Given the description of an element on the screen output the (x, y) to click on. 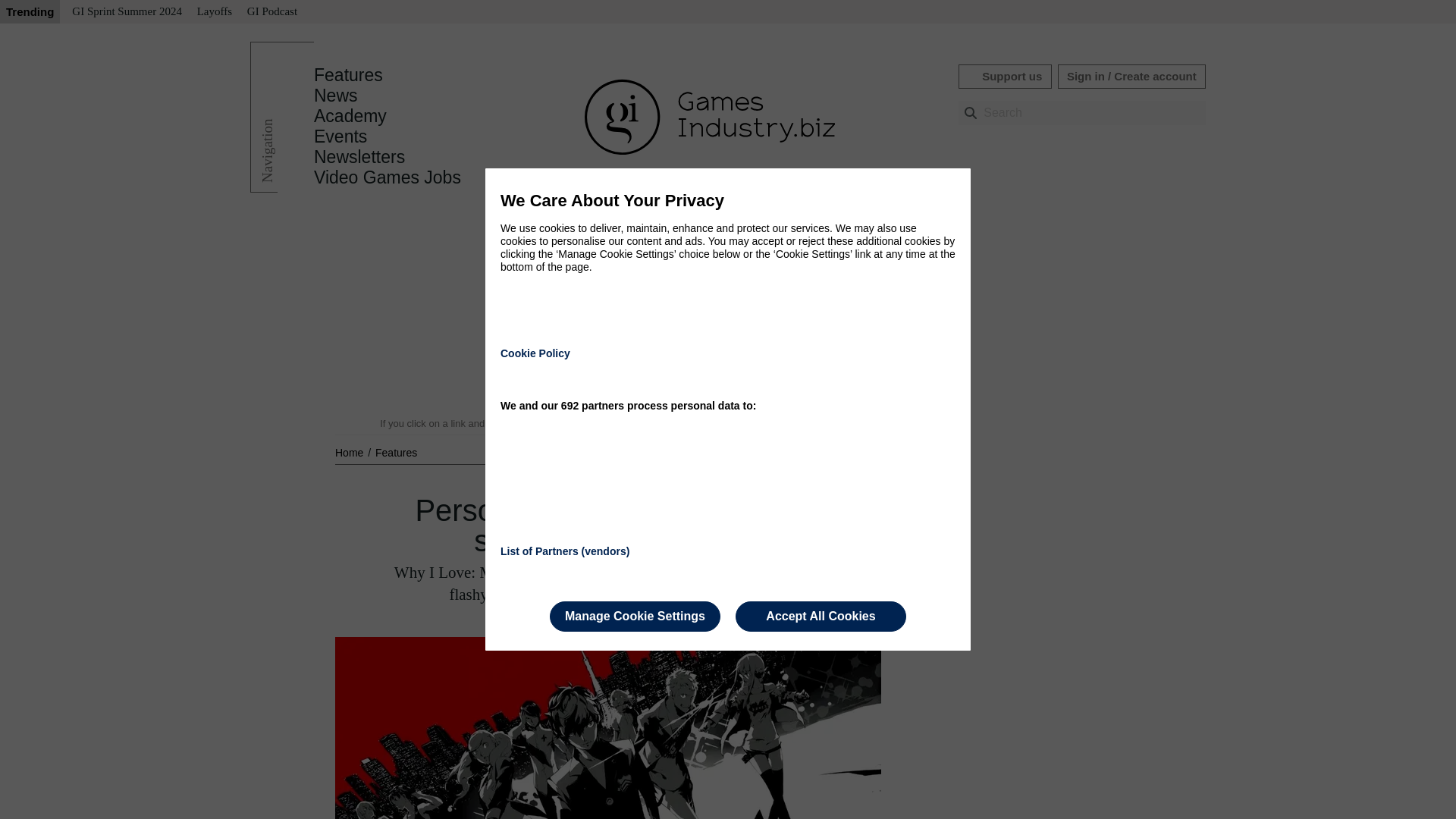
News (336, 95)
Features (348, 75)
Video Games Jobs (387, 177)
News (336, 95)
Newsletters (359, 157)
Events (340, 136)
GI Sprint Summer 2024 (126, 11)
Academy (350, 116)
GI Podcast (271, 11)
GI Sprint Summer 2024 (126, 11)
Academy (350, 116)
Read our editorial policy (781, 423)
Layoffs (214, 11)
Newsletters (359, 157)
GI Podcast (271, 11)
